Given the description of an element on the screen output the (x, y) to click on. 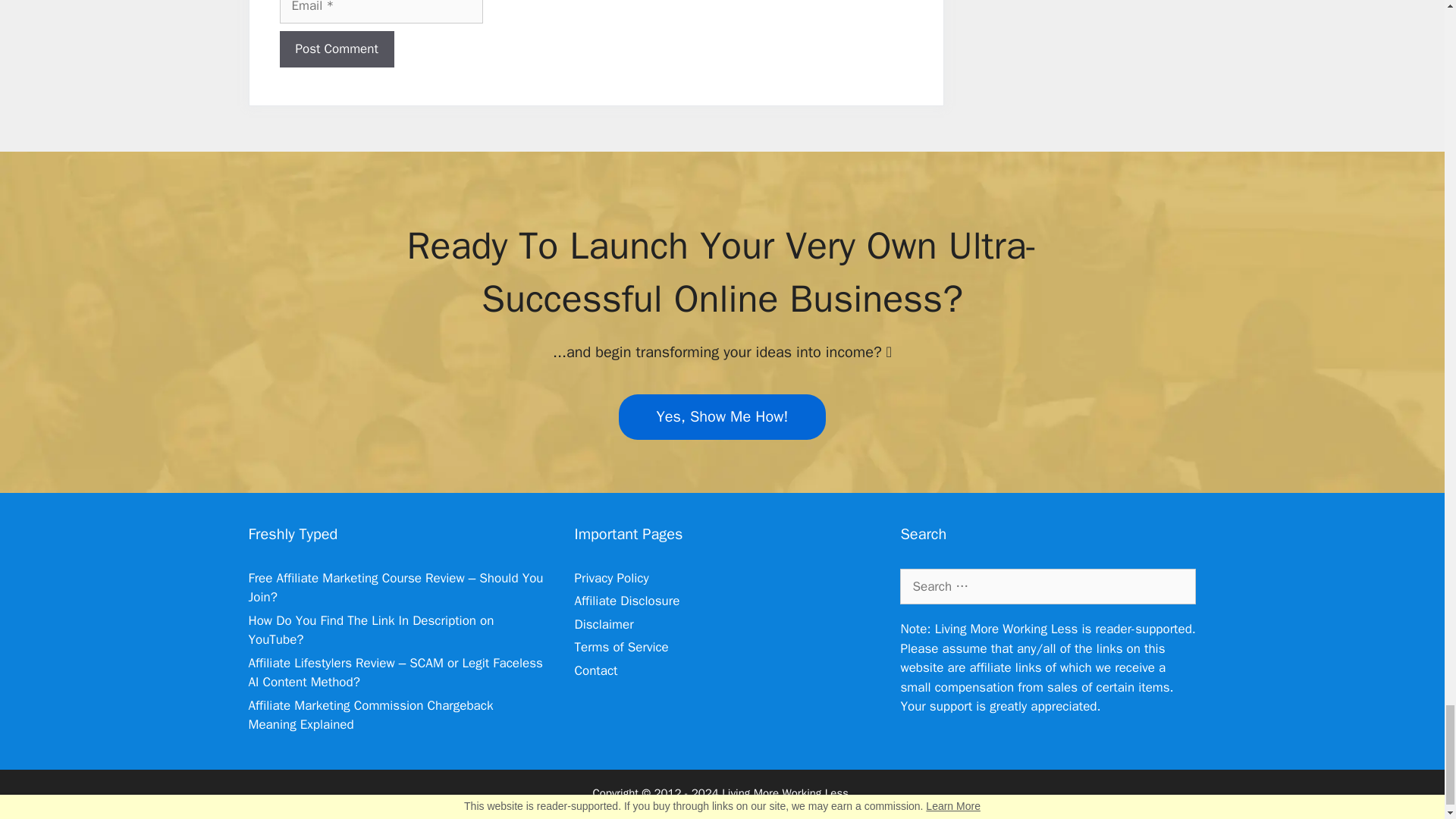
Post Comment (336, 49)
Yes, Show Me How! (722, 416)
Post Comment (336, 49)
Search for: (1047, 586)
